Given the description of an element on the screen output the (x, y) to click on. 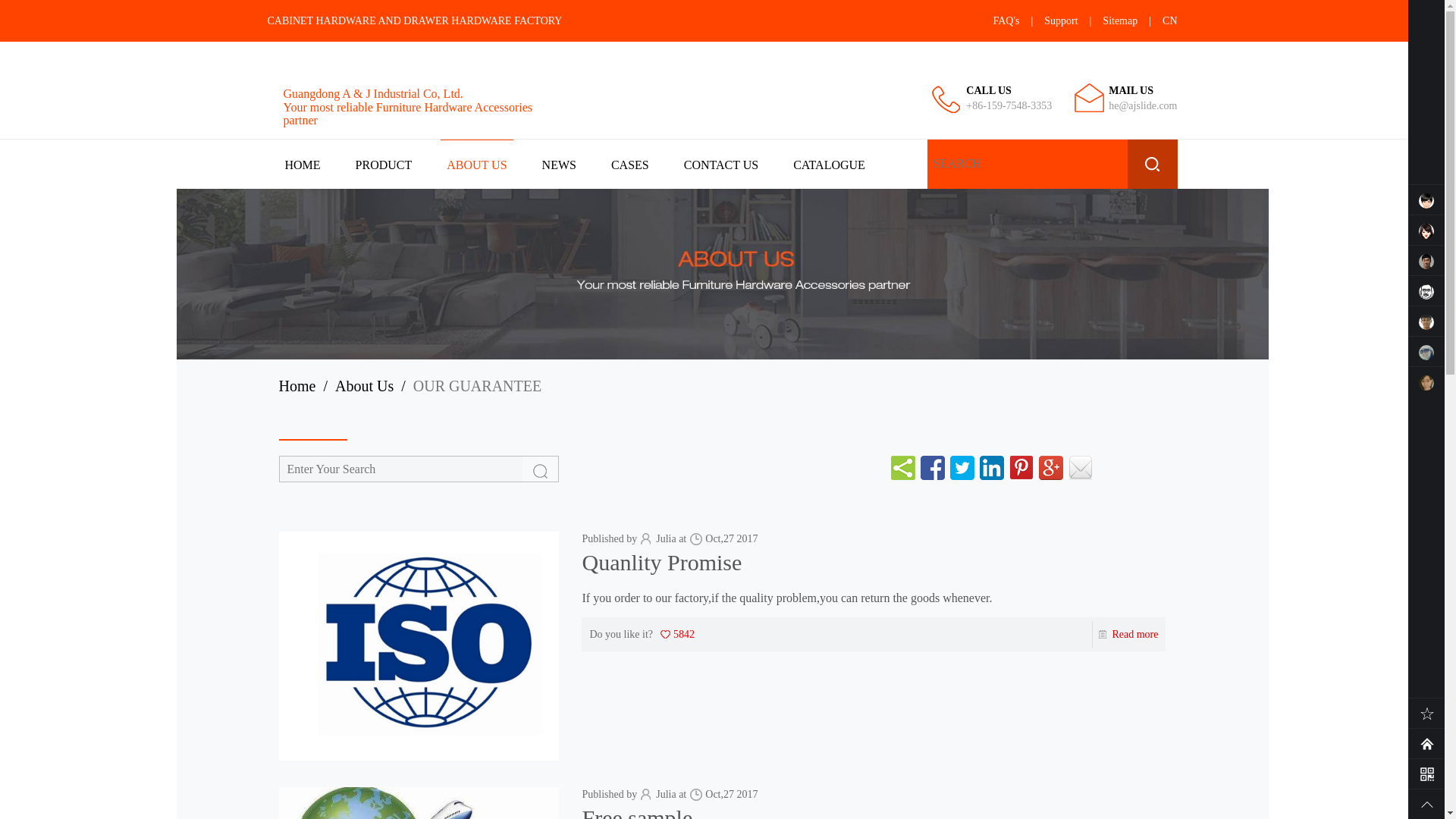
CASES (630, 164)
More (903, 467)
CATALOGUE (828, 164)
Twitter (962, 467)
Home (297, 385)
PRODUCT (384, 164)
Free sample (873, 810)
Facebook (932, 467)
Linkedin (991, 467)
